Given the description of an element on the screen output the (x, y) to click on. 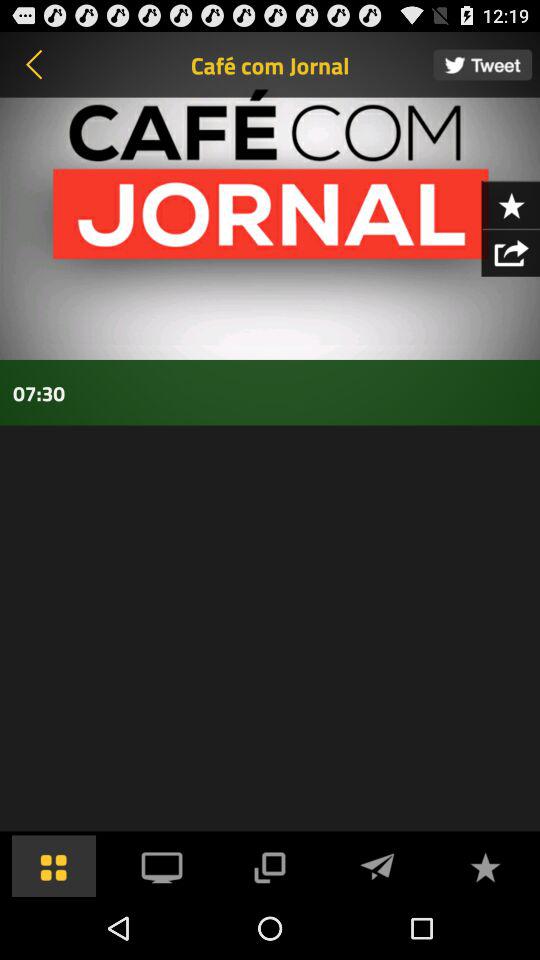
export information (510, 252)
